Given the description of an element on the screen output the (x, y) to click on. 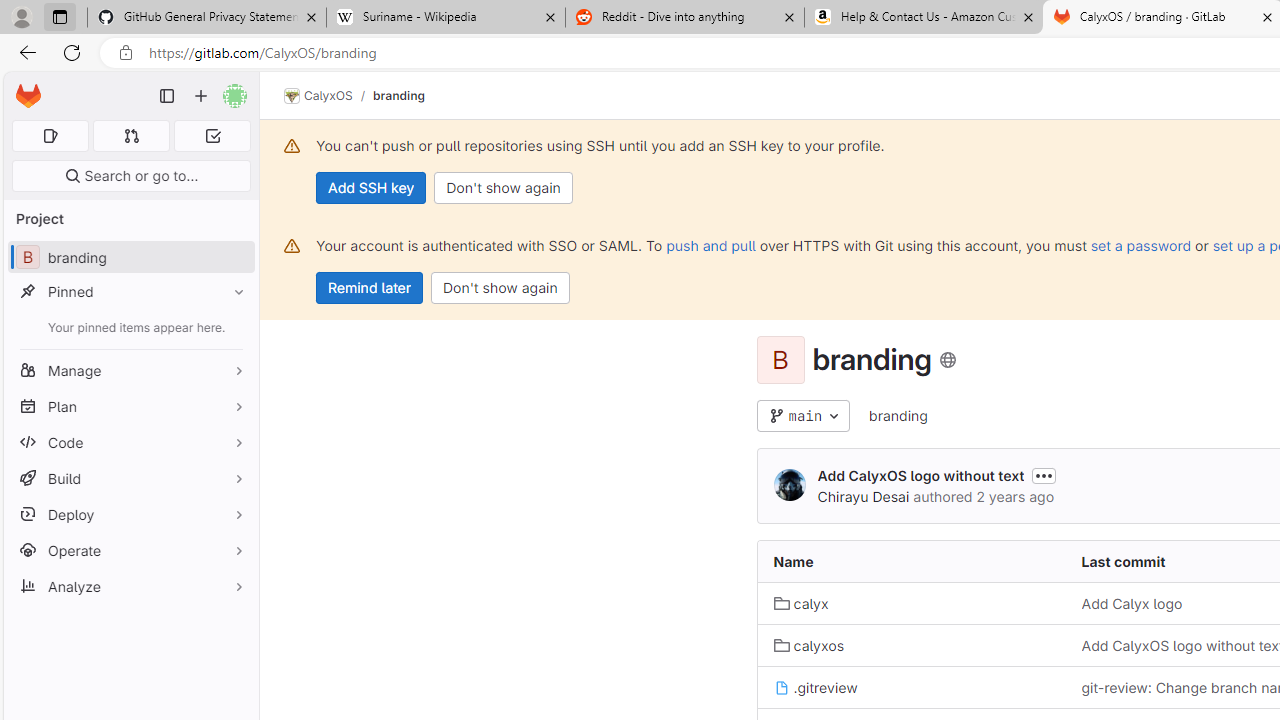
Add CalyxOS logo without text (920, 475)
